Given the description of an element on the screen output the (x, y) to click on. 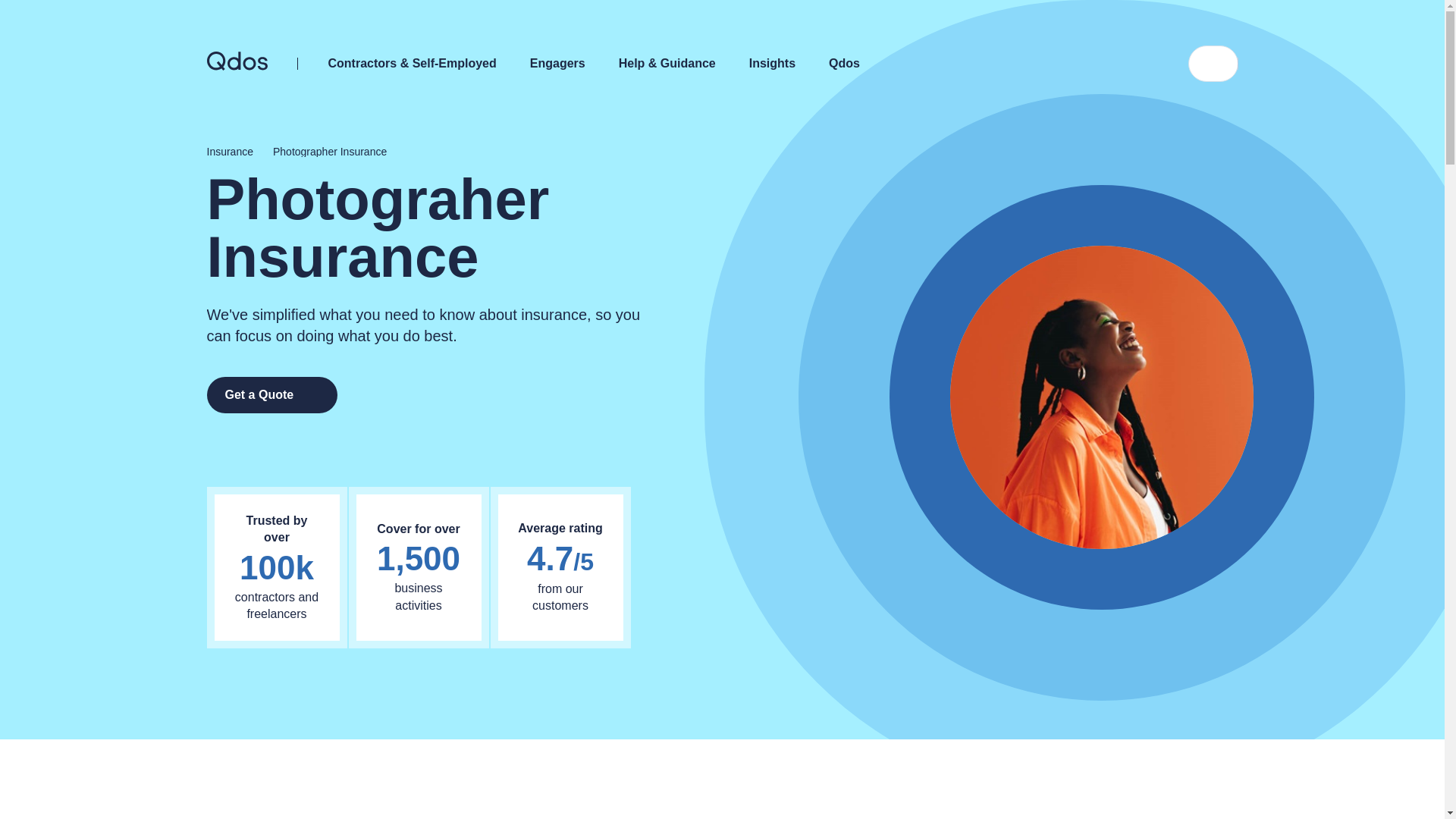
Engagers (564, 63)
